Given the description of an element on the screen output the (x, y) to click on. 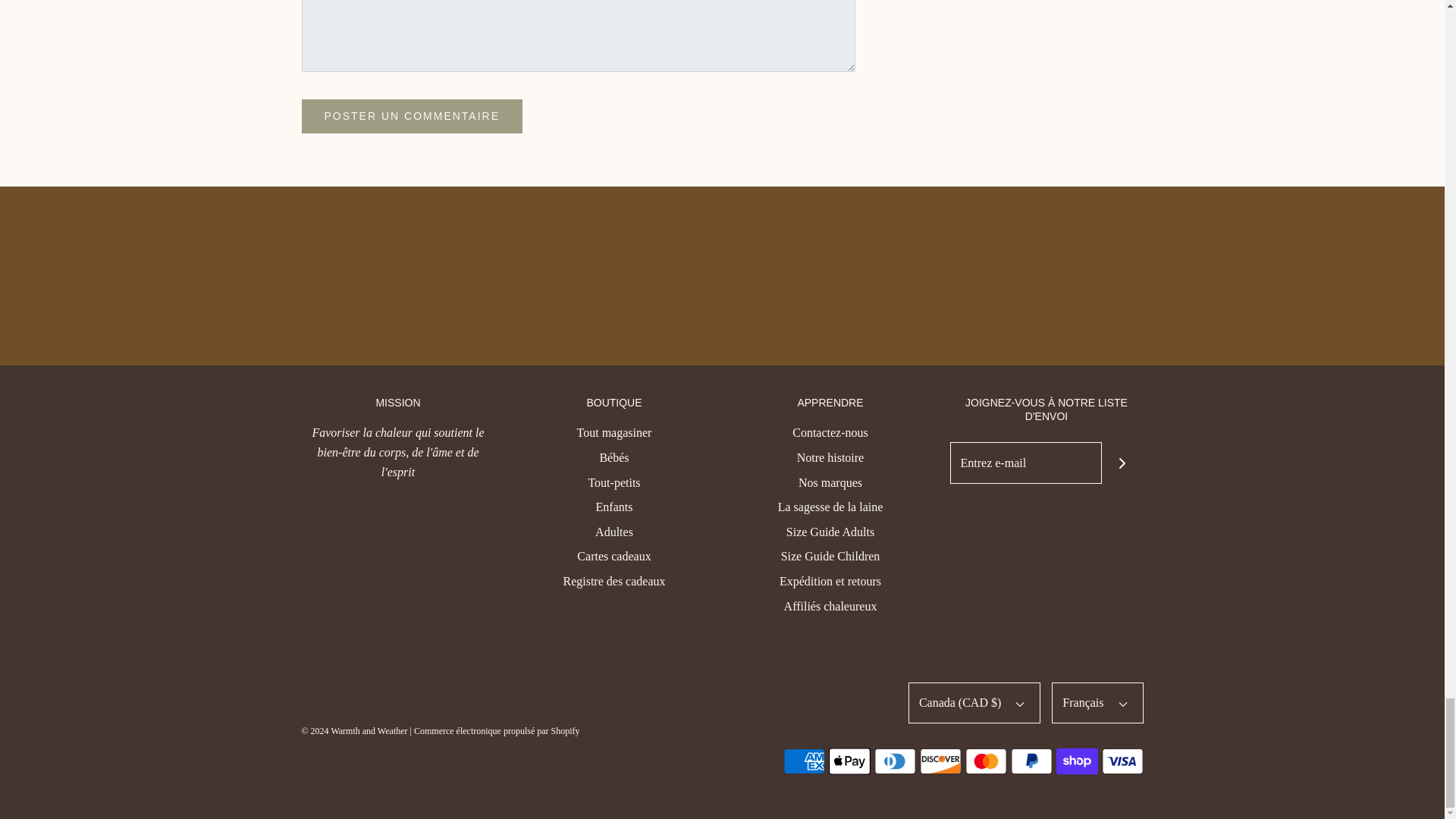
American Express (803, 761)
Poster un commentaire (411, 116)
Mastercard (984, 761)
Apple Pay (848, 761)
PayPal (1030, 761)
Discover (939, 761)
Shop Pay (1076, 761)
Diners Club (894, 761)
